Given the description of an element on the screen output the (x, y) to click on. 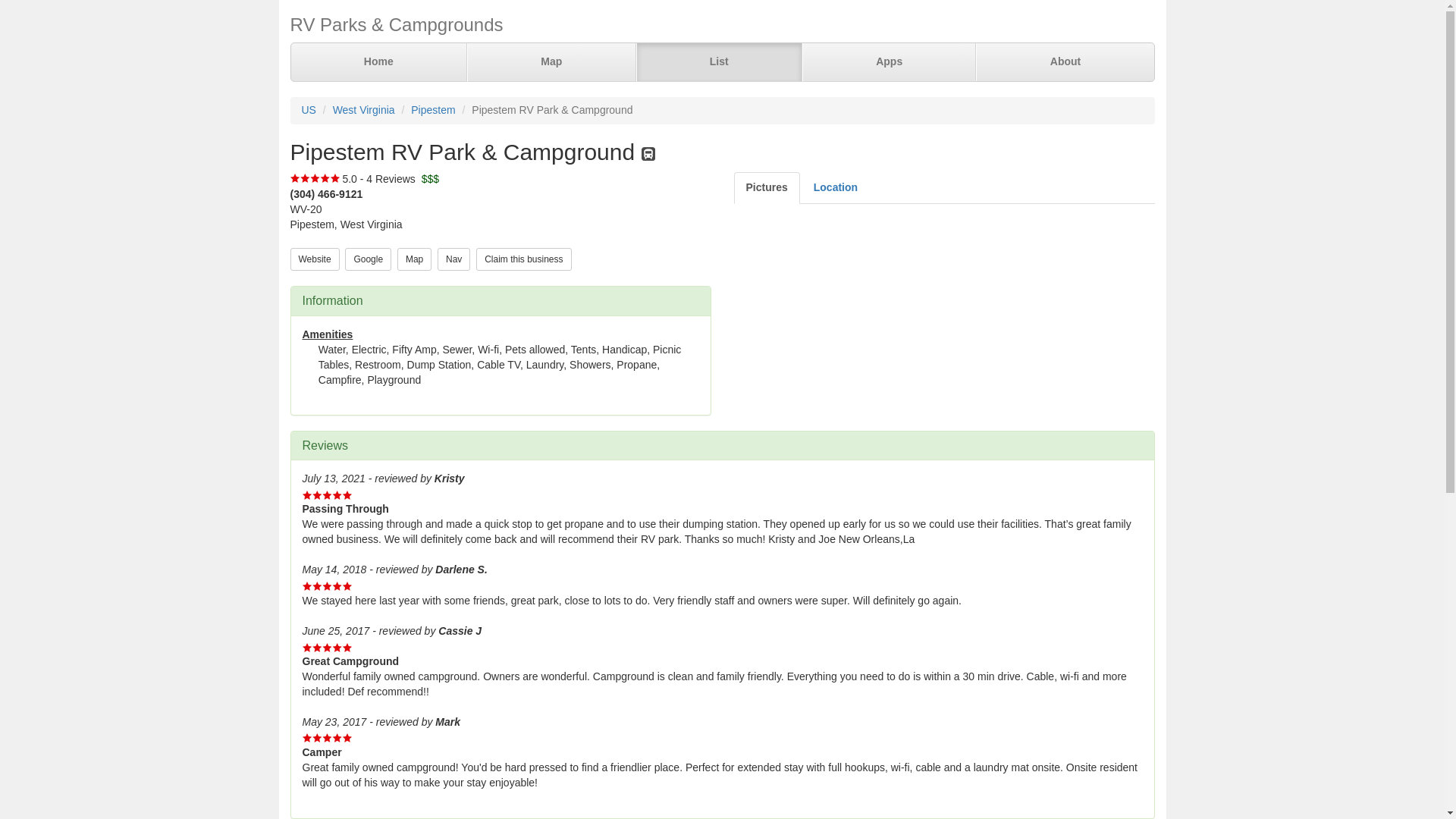
Home (379, 62)
West Virginia (363, 110)
Apps (889, 62)
Map (551, 62)
About (1064, 62)
Nav (454, 258)
US (308, 110)
Claim this business (523, 258)
Google (368, 258)
Website (314, 258)
List (718, 62)
Google (368, 259)
Nav (454, 259)
Map (413, 258)
Map (413, 259)
